Given the description of an element on the screen output the (x, y) to click on. 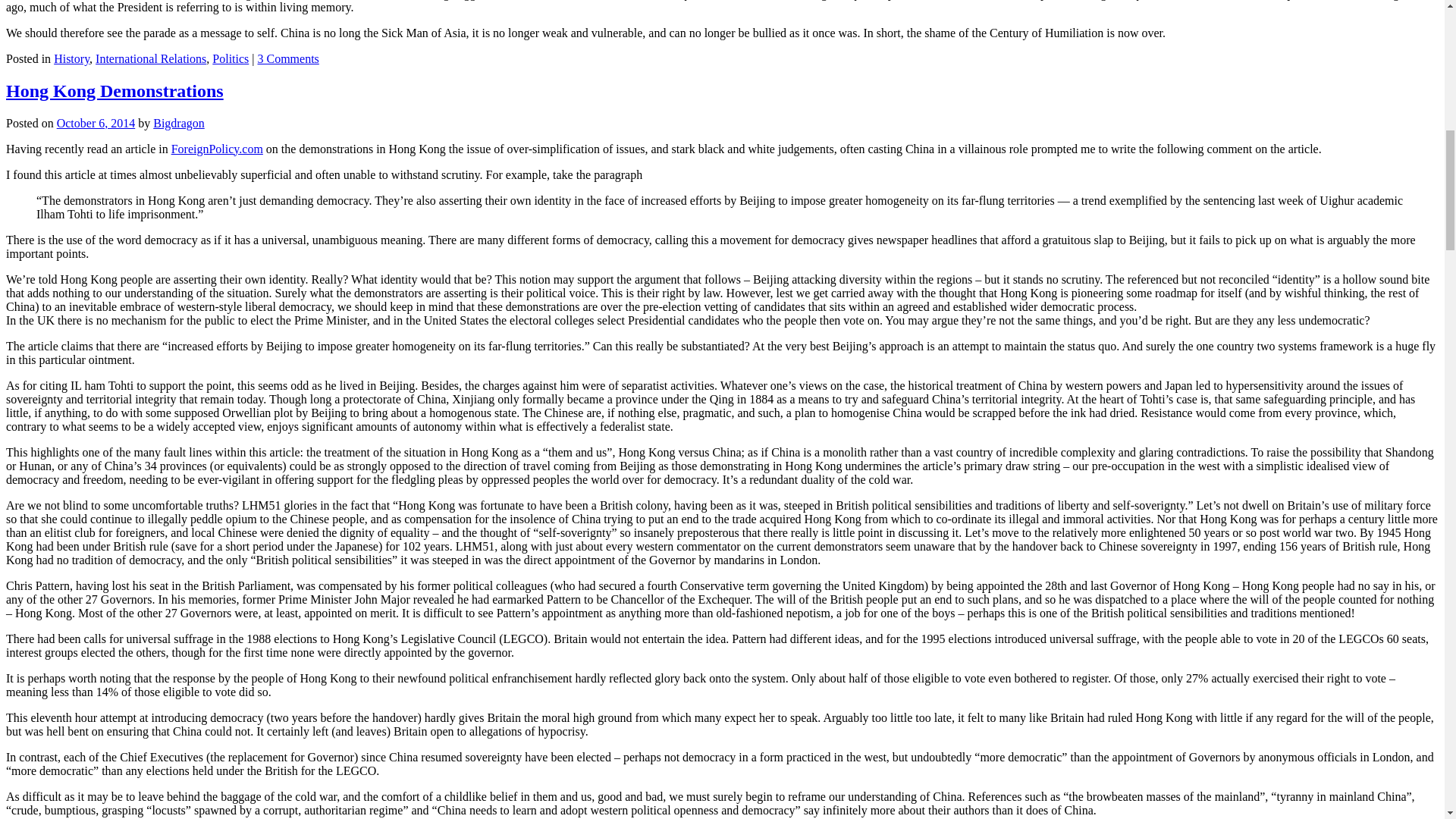
Politics (230, 58)
View all posts by Bigdragon (178, 123)
ForeignPolicy.com (217, 148)
October 6, 2014 (95, 123)
5:37 pm (95, 123)
International Relations (151, 58)
History (70, 58)
Hong Kong Demonstrations (114, 90)
Bigdragon (178, 123)
3 Comments (287, 58)
